Given the description of an element on the screen output the (x, y) to click on. 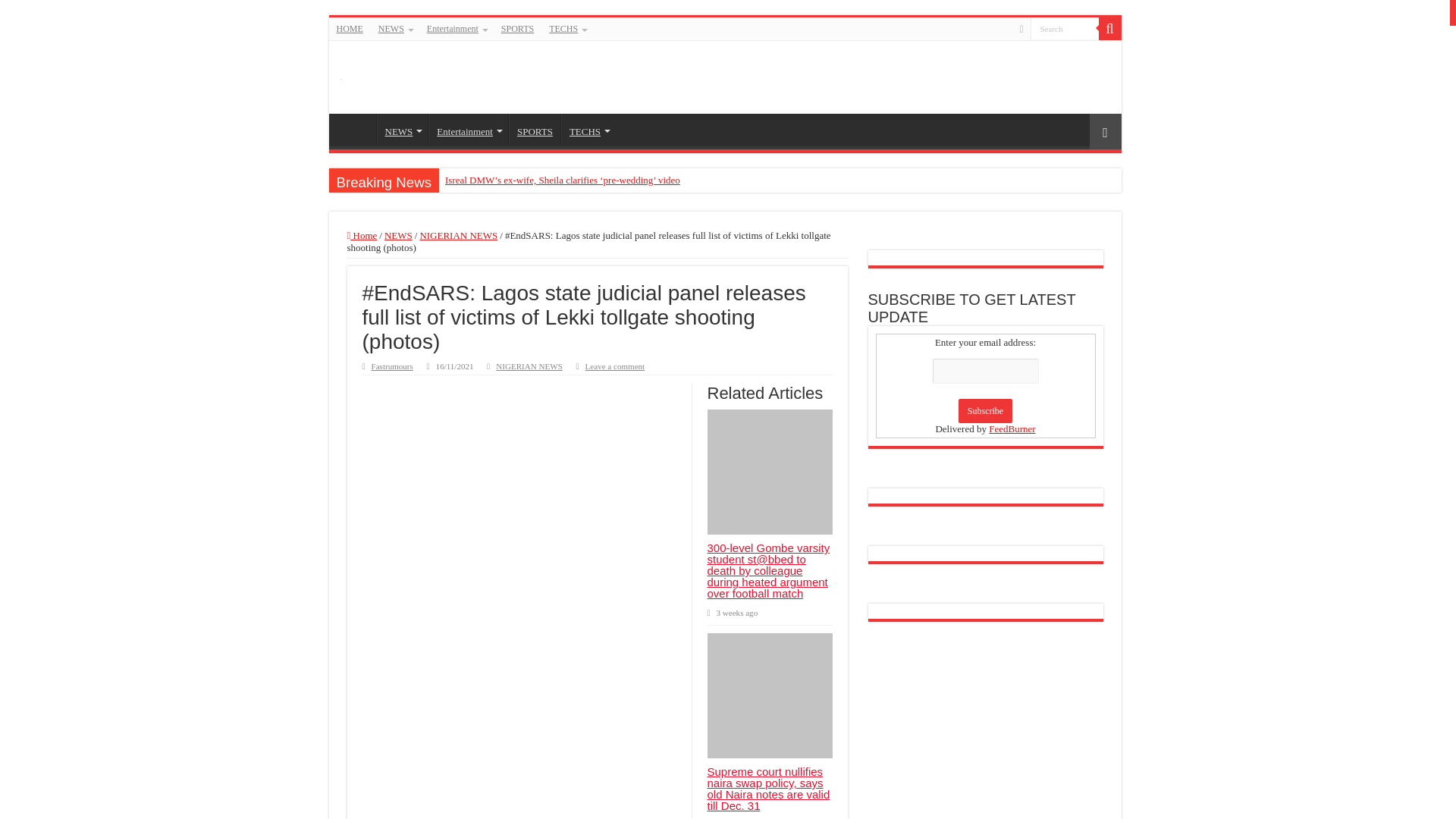
HOME (350, 28)
Search (1063, 28)
NEWS (398, 235)
Random Article (1105, 131)
SPORTS (534, 129)
Entertainment (468, 129)
NEWS (401, 129)
Search (1063, 28)
NEWS (395, 28)
TECHS (587, 129)
Search (1063, 28)
Rss (1021, 29)
SPORTS (517, 28)
Home (362, 235)
